Given the description of an element on the screen output the (x, y) to click on. 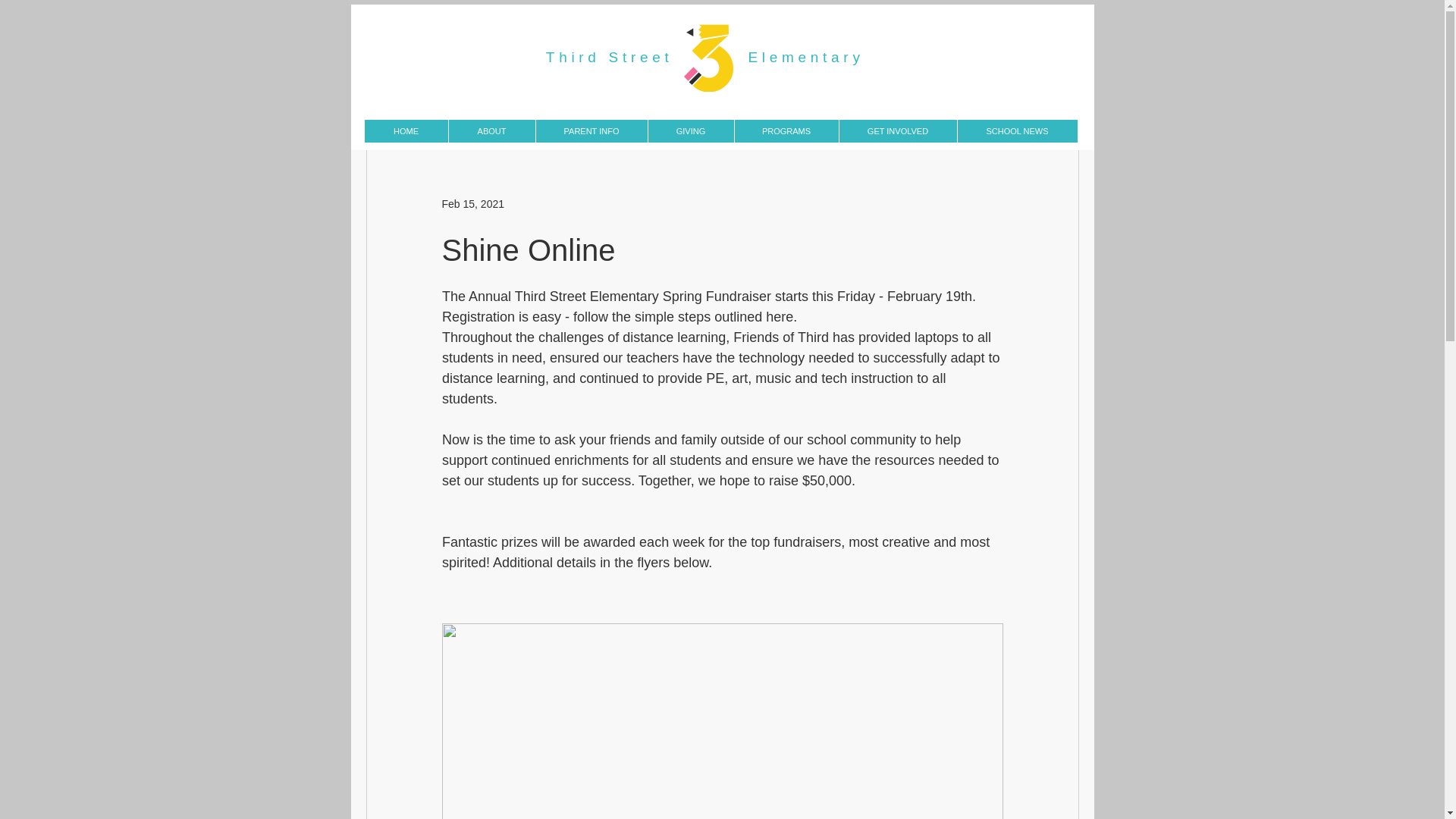
GIVING (690, 130)
Feb 15, 2021 (472, 203)
SCHOOL NEWS (1016, 130)
HOME (405, 130)
